Given the description of an element on the screen output the (x, y) to click on. 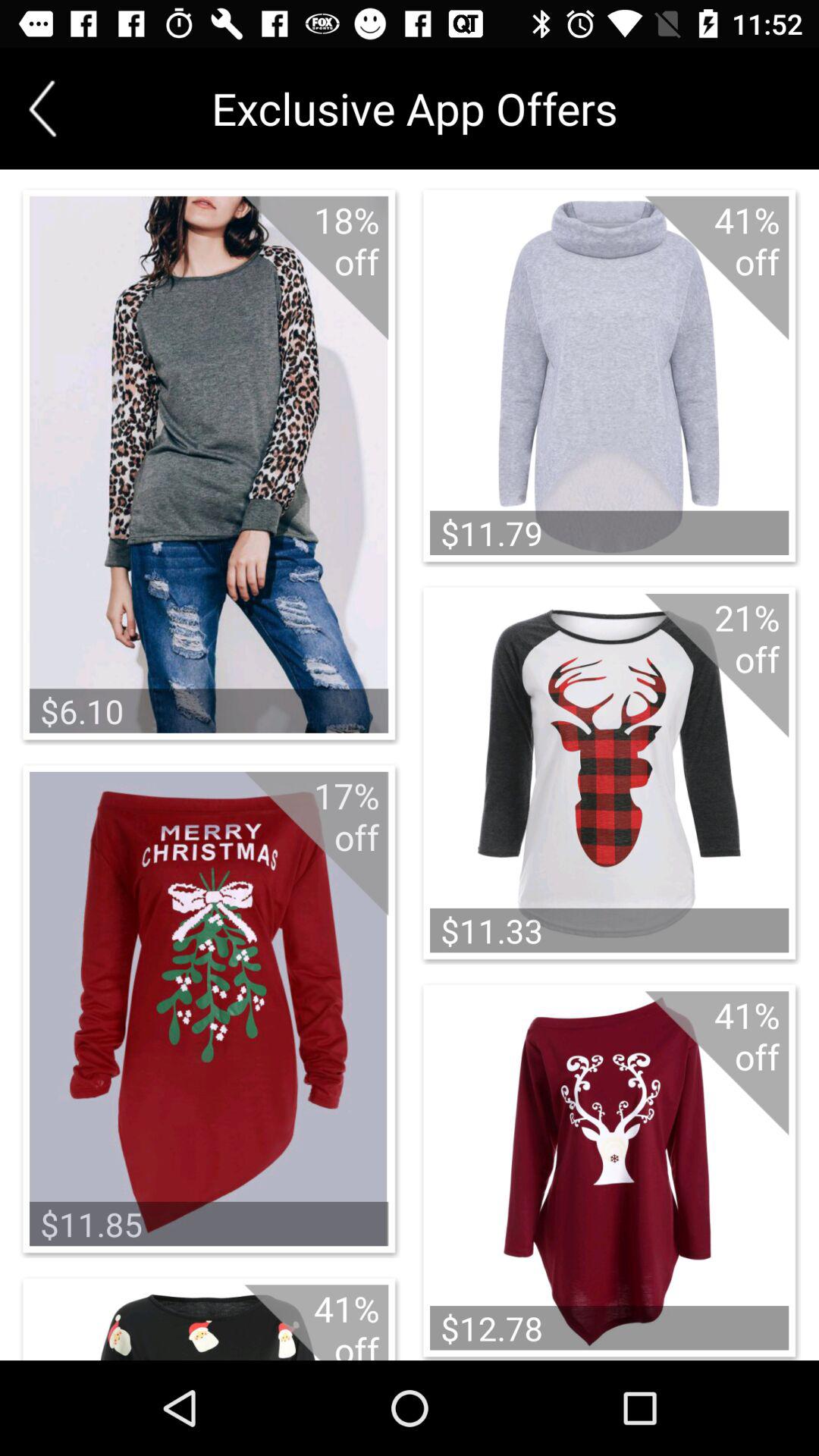
open icon to the left of exclusive app offers item (42, 108)
